Given the description of an element on the screen output the (x, y) to click on. 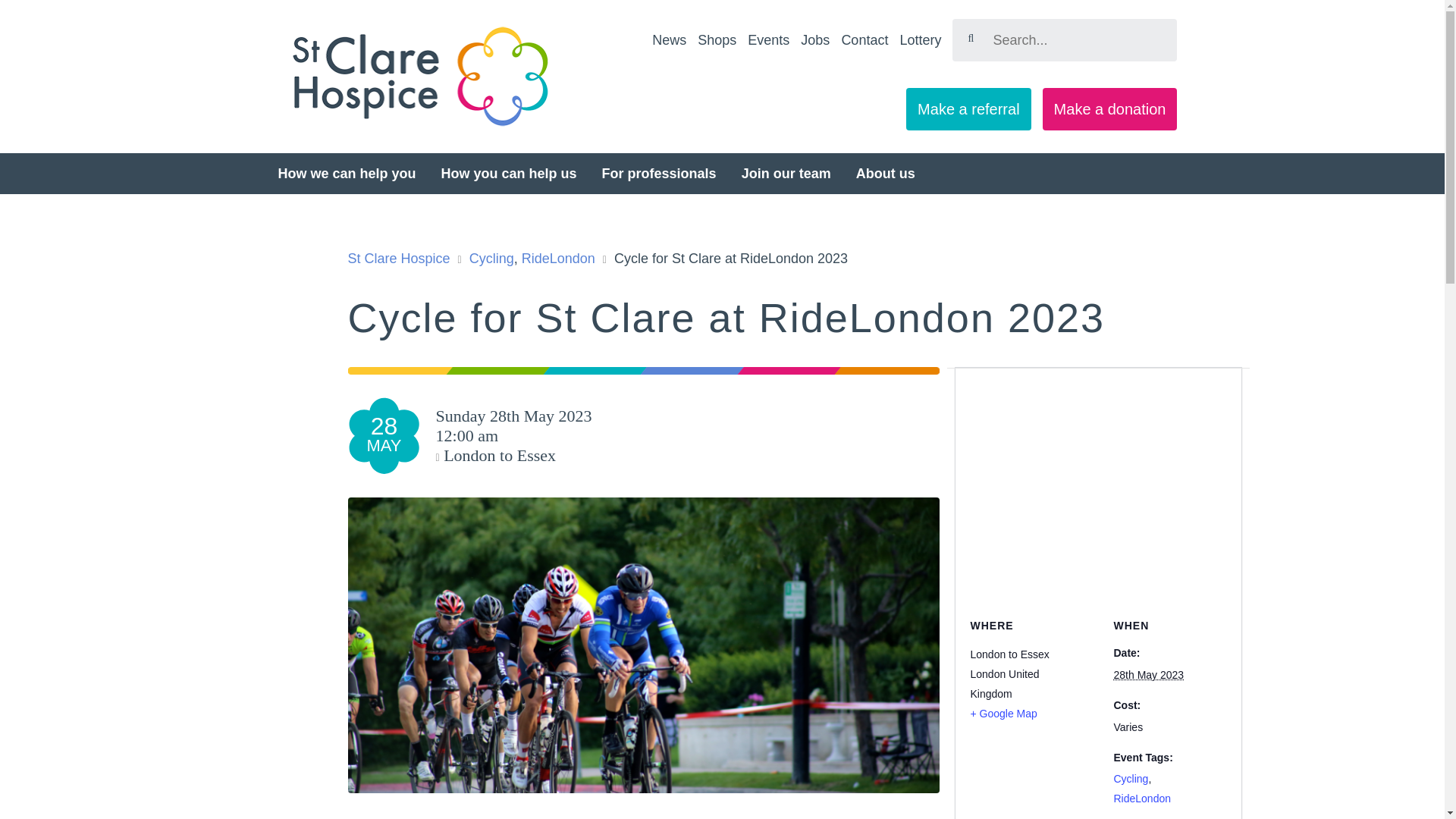
Lottery (919, 38)
Go to the RideLondon tag archives. (558, 258)
Click to view a Google Map (1018, 713)
2023-05-28 (1148, 674)
Events (768, 38)
Go to the Cycling tag archives. (490, 258)
Contact (864, 38)
Jobs (814, 38)
Search for: (1064, 39)
Google maps iframe displaying the address to London to Essex (1035, 472)
Go to St Clare Hospice. (398, 258)
Make a referral (967, 108)
Make a donation (1109, 108)
Shops (716, 38)
How we can help you (346, 173)
